Given the description of an element on the screen output the (x, y) to click on. 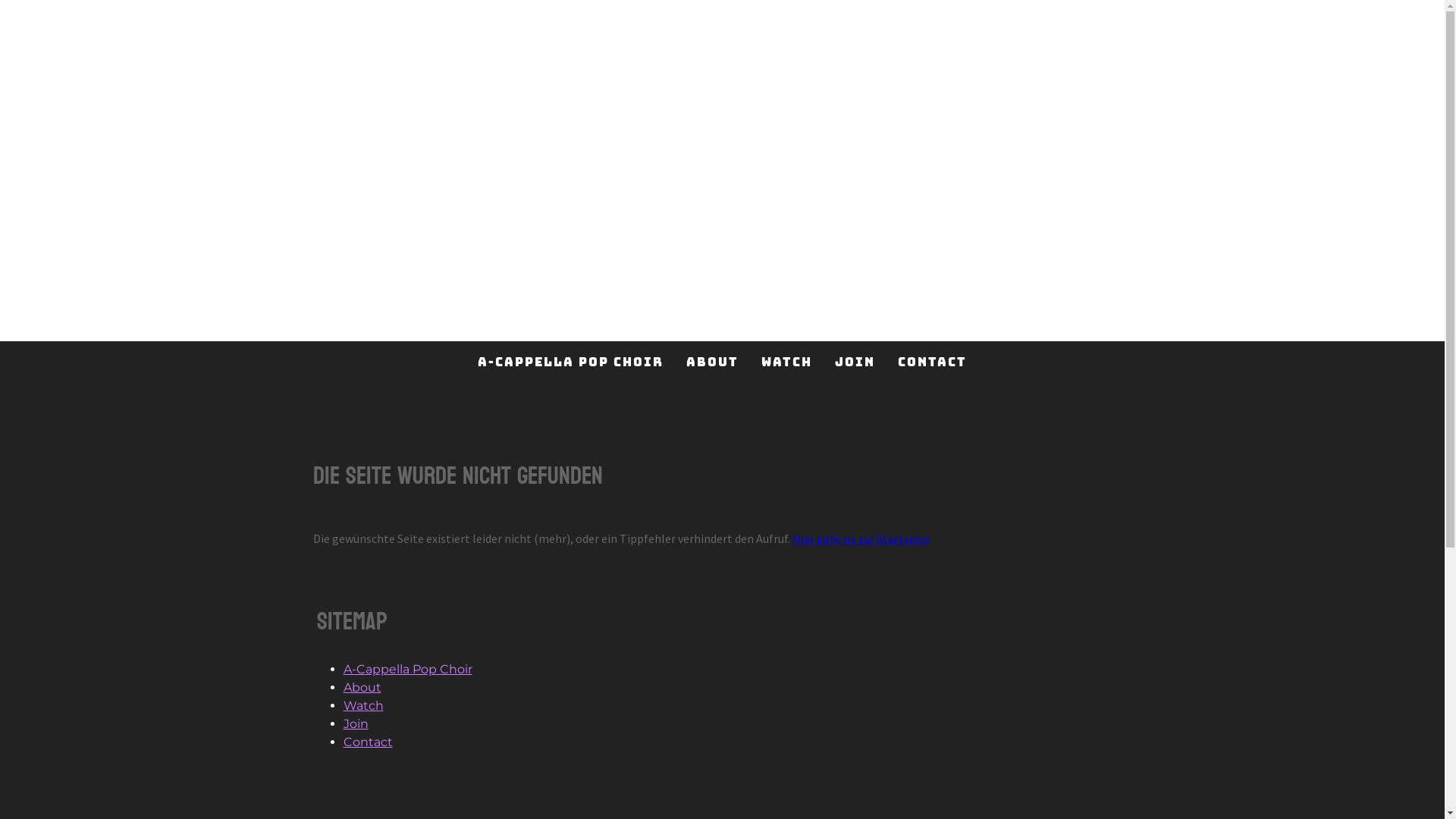
A-CAPPELLA POP CHOIR Element type: text (570, 361)
Contact Element type: text (367, 741)
CONTACT Element type: text (932, 361)
Join Element type: text (354, 723)
A-Cappella Pop Choir Element type: text (406, 669)
Watch Element type: text (362, 705)
WATCH Element type: text (786, 361)
Hier geht es zur Startseite Element type: text (859, 538)
ABOUT Element type: text (711, 361)
JOIN Element type: text (854, 361)
About Element type: text (361, 687)
